Given the description of an element on the screen output the (x, y) to click on. 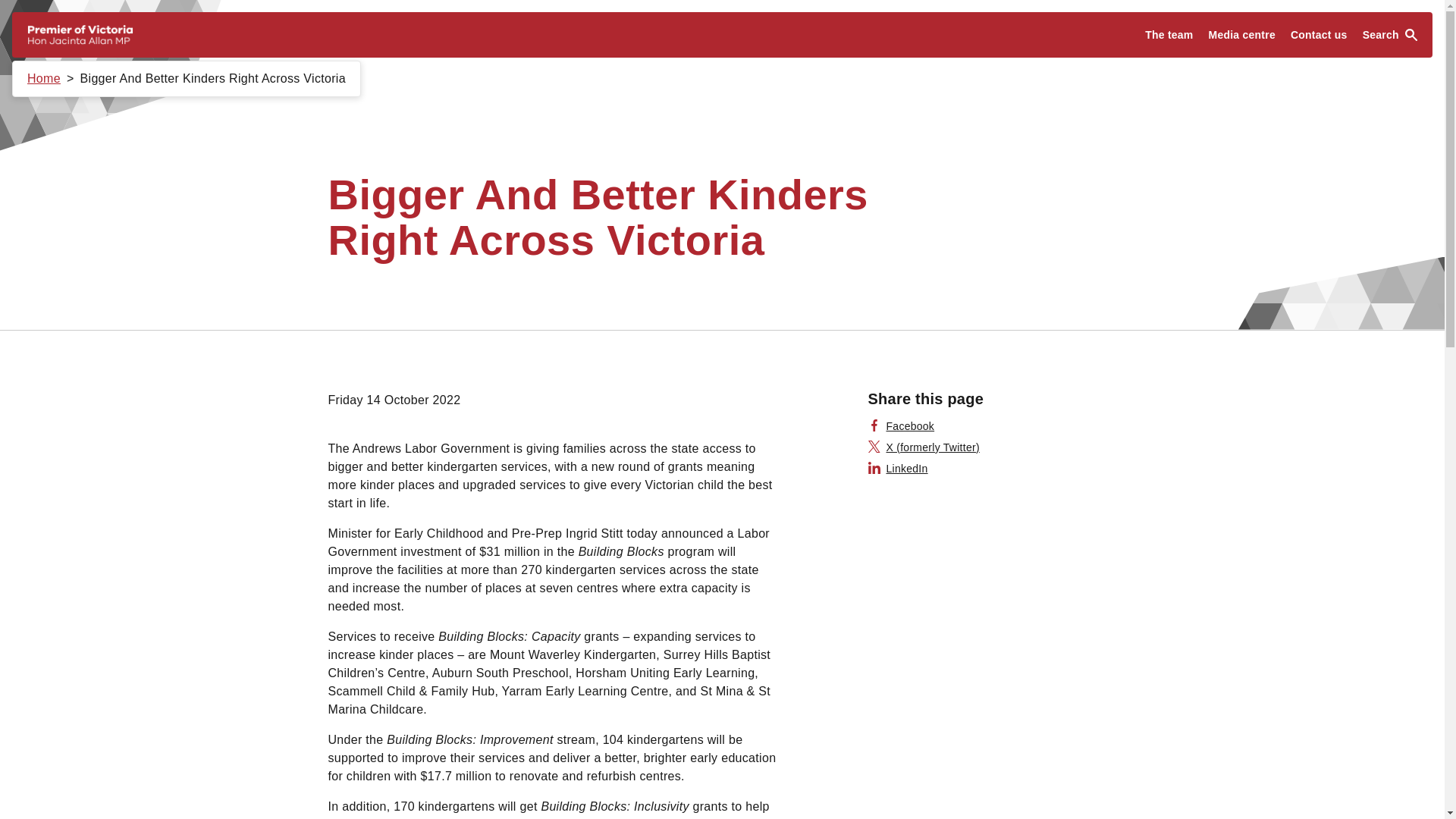
The team (1168, 34)
LinkedIn (897, 468)
Home (44, 78)
Contact us (1318, 34)
Facebook (900, 426)
Media centre (1241, 34)
